Given the description of an element on the screen output the (x, y) to click on. 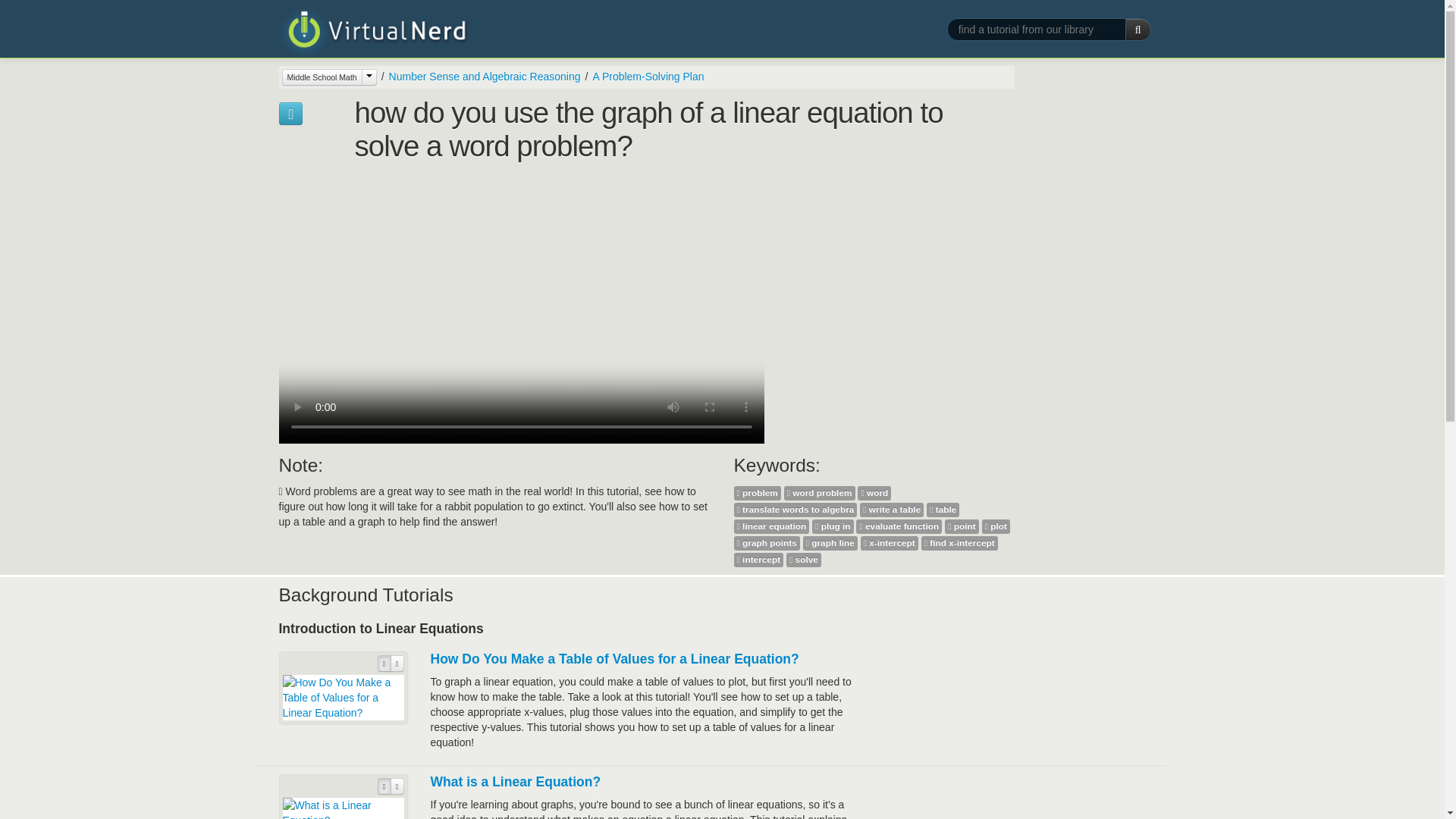
A Problem-Solving Plan (642, 76)
Virtual Nerd (373, 32)
A Problem-Solving Plan (647, 76)
Middle School Math (322, 76)
What is a Linear Equation? (515, 781)
How Do You Make a Table of Values for a Linear Equation? (614, 658)
Number Sense and Algebraic Reasoning (484, 76)
Middle School Math (329, 76)
Number Sense and Algebraic Reasoning (478, 76)
